Given the description of an element on the screen output the (x, y) to click on. 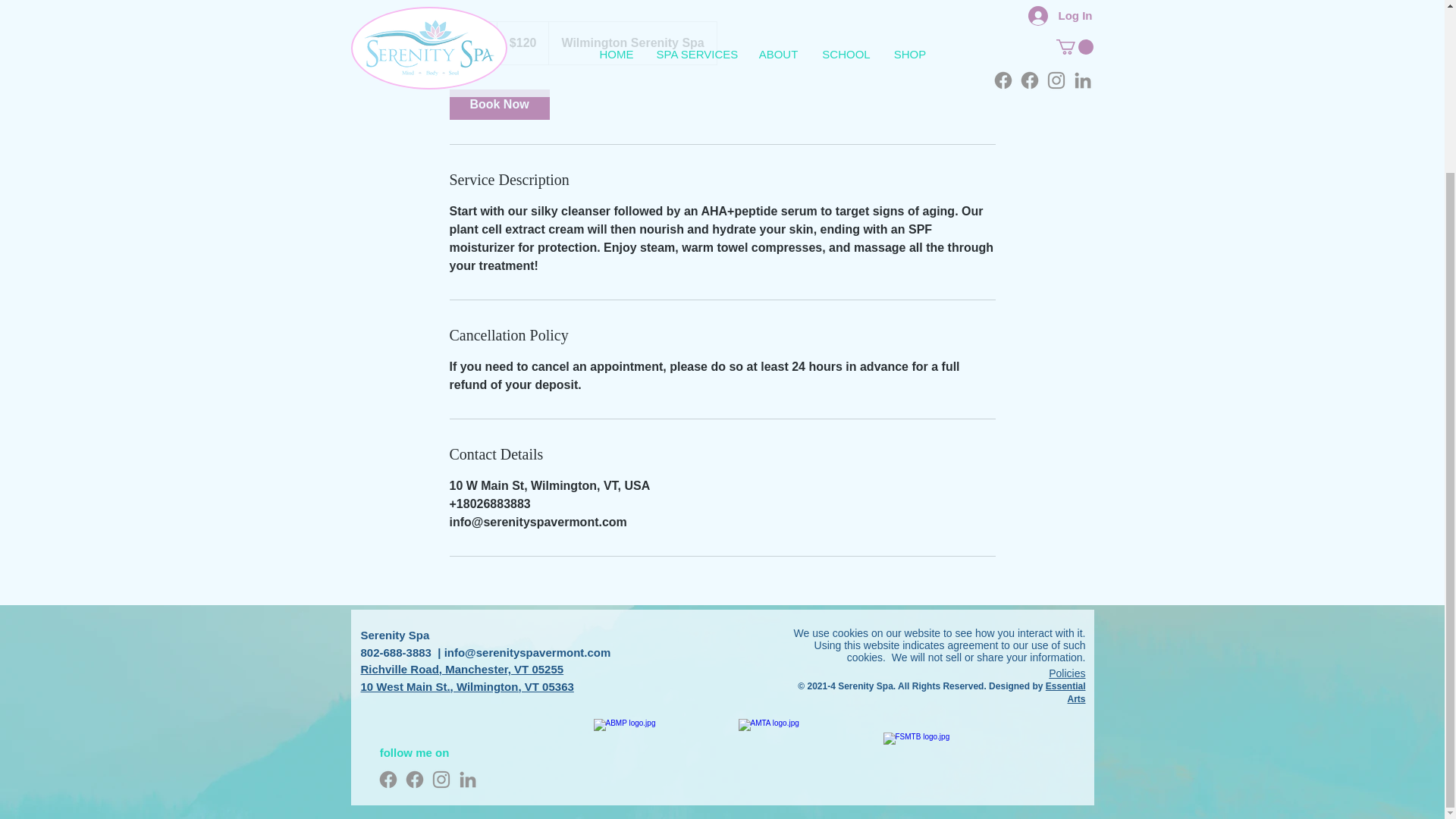
Essential Arts (1065, 692)
Book Now (498, 104)
10 West Main St., Wilmington, VT 05363 (467, 686)
Richville Road, Manchester, VT 05255 (462, 668)
Policies (1066, 673)
